Given the description of an element on the screen output the (x, y) to click on. 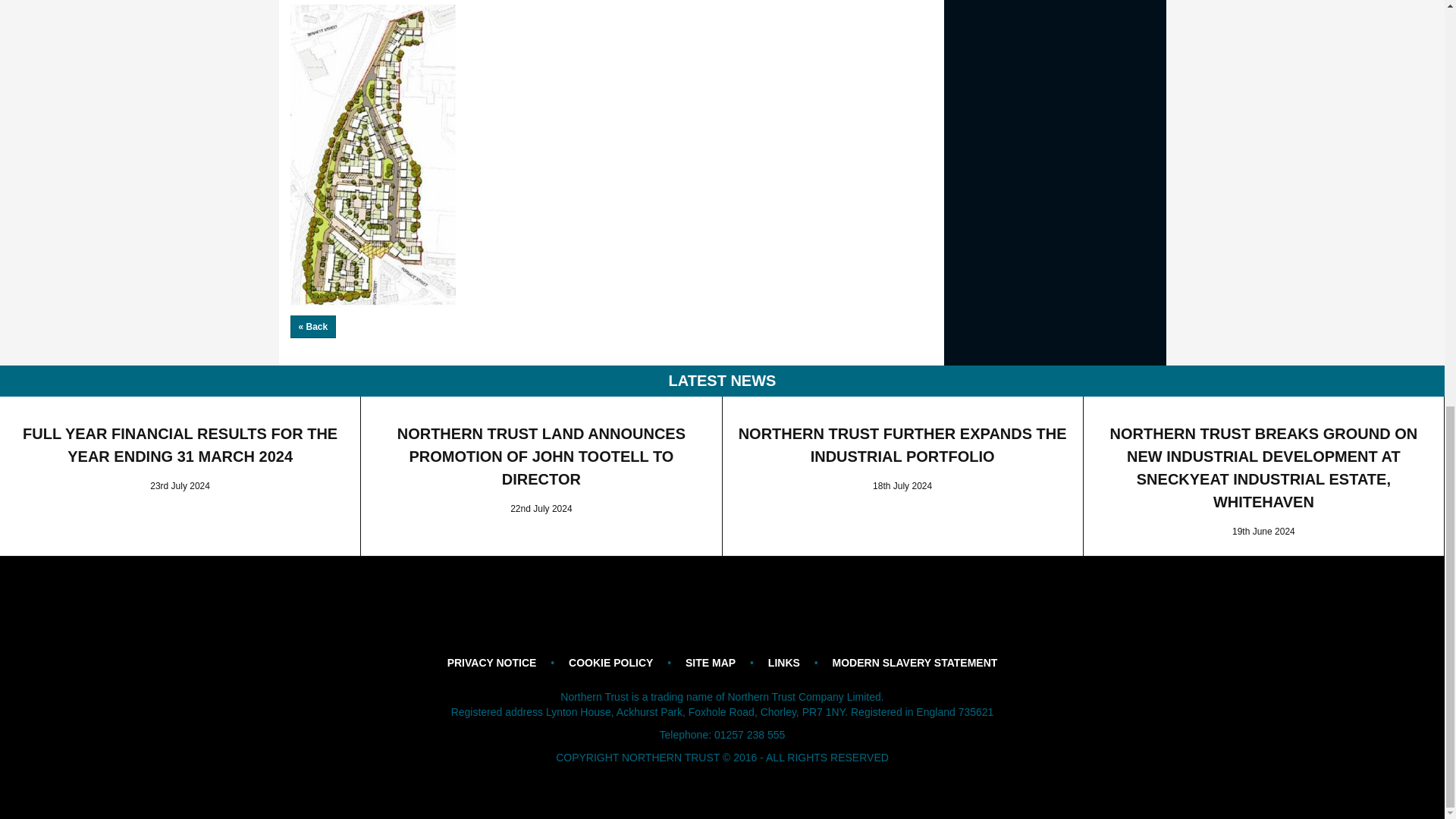
NORTHERN TRUST FURTHER EXPANDS THE INDUSTRIAL PORTFOLIO (902, 445)
